Given the description of an element on the screen output the (x, y) to click on. 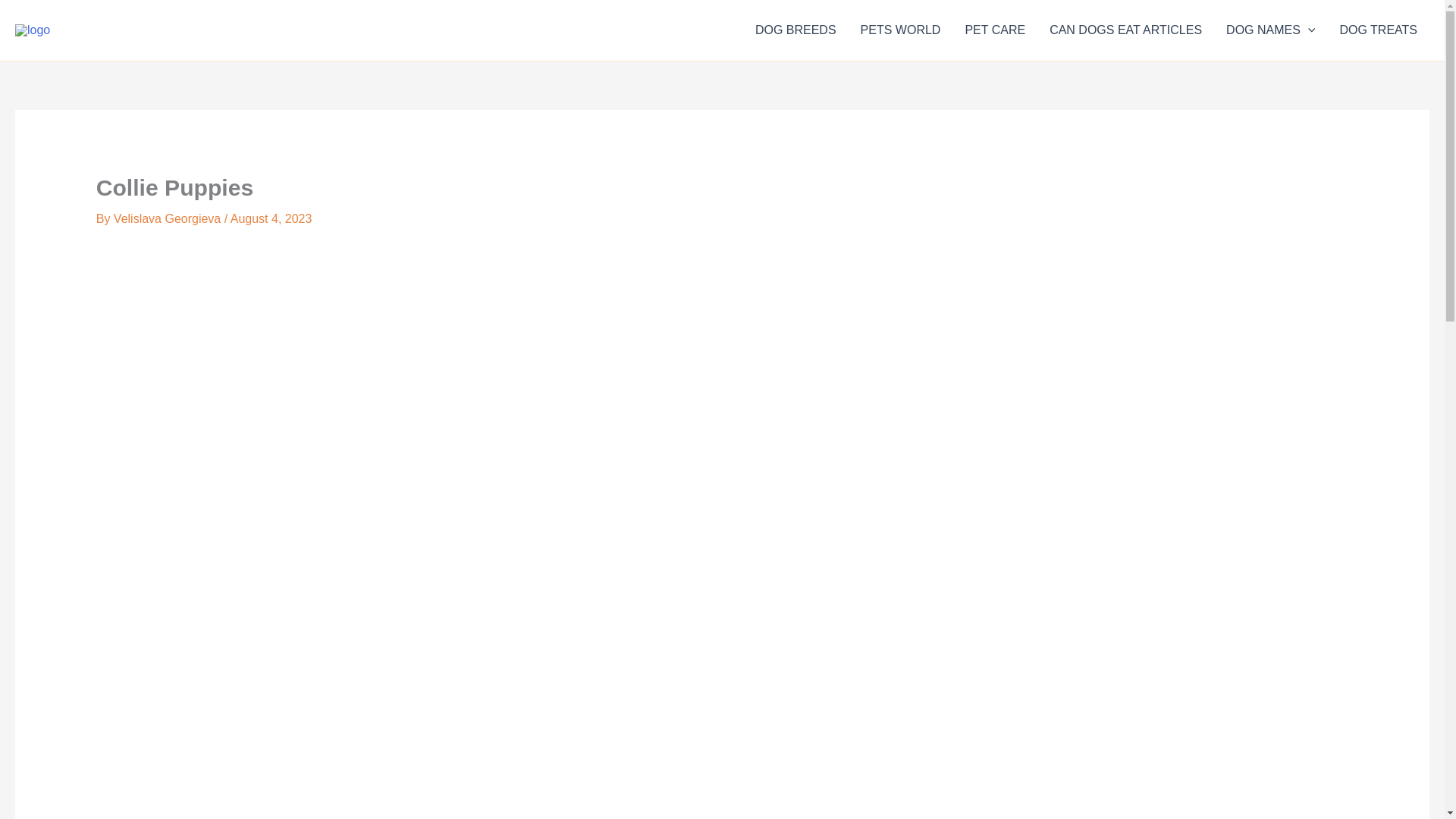
DOG NAMES (1270, 30)
DOG TREATS (1377, 30)
DOG BREEDS (795, 30)
CAN DOGS EAT ARTICLES (1125, 30)
Velislava Georgieva (168, 218)
PETS WORLD (900, 30)
View all posts by Velislava Georgieva (168, 218)
PET CARE (994, 30)
